Given the description of an element on the screen output the (x, y) to click on. 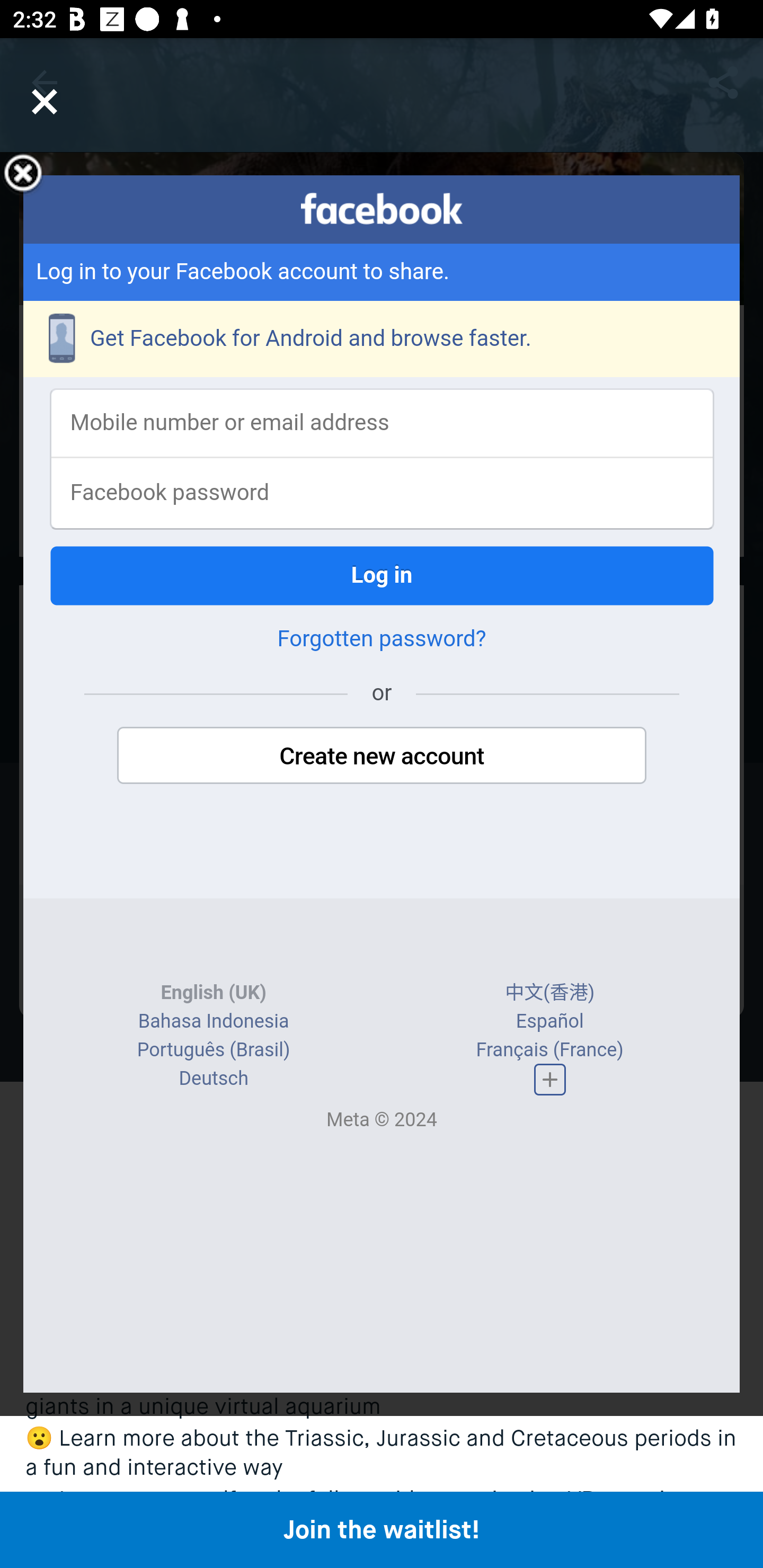
facebook (381, 208)
Get Facebook for Android and browse faster. (381, 339)
Log in (381, 575)
Forgotten password? (381, 638)
Create new account (381, 755)
中文(香港) (550, 993)
Bahasa Indonesia (214, 1021)
Español (549, 1021)
Português (Brasil) (212, 1049)
Français (France) (549, 1049)
Complete list of languages (548, 1079)
Deutsch (212, 1078)
